Given the description of an element on the screen output the (x, y) to click on. 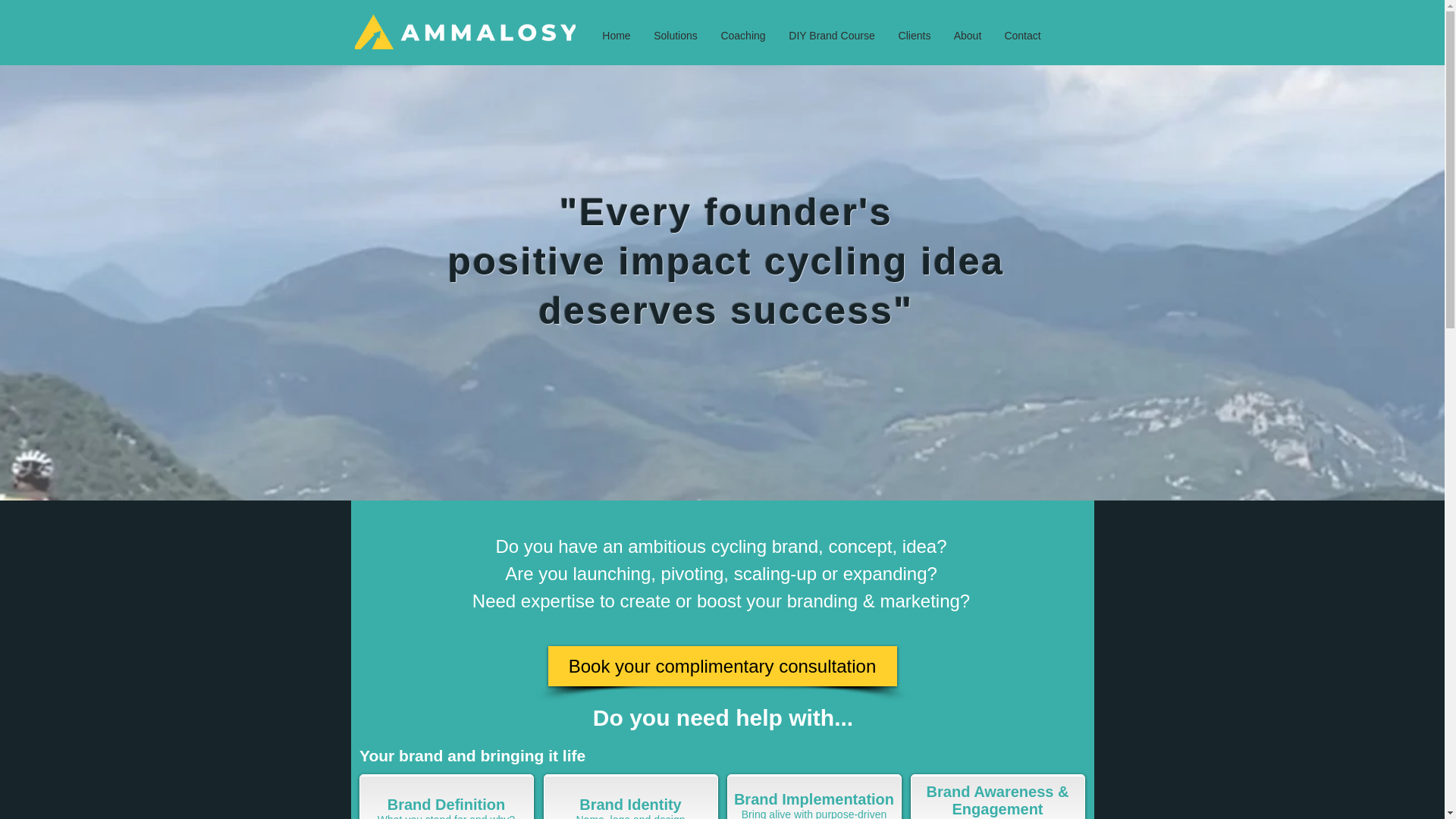
Clients (1018, 36)
Clients (914, 35)
Coaching (743, 35)
Solutions (769, 36)
DIY Brand Course (831, 35)
Home (616, 35)
Home (706, 36)
Contact (1022, 35)
Book your complimentary consultation (721, 666)
DIY Brand Course (933, 36)
About (967, 35)
Coaching (842, 36)
Solutions (675, 35)
